Given the description of an element on the screen output the (x, y) to click on. 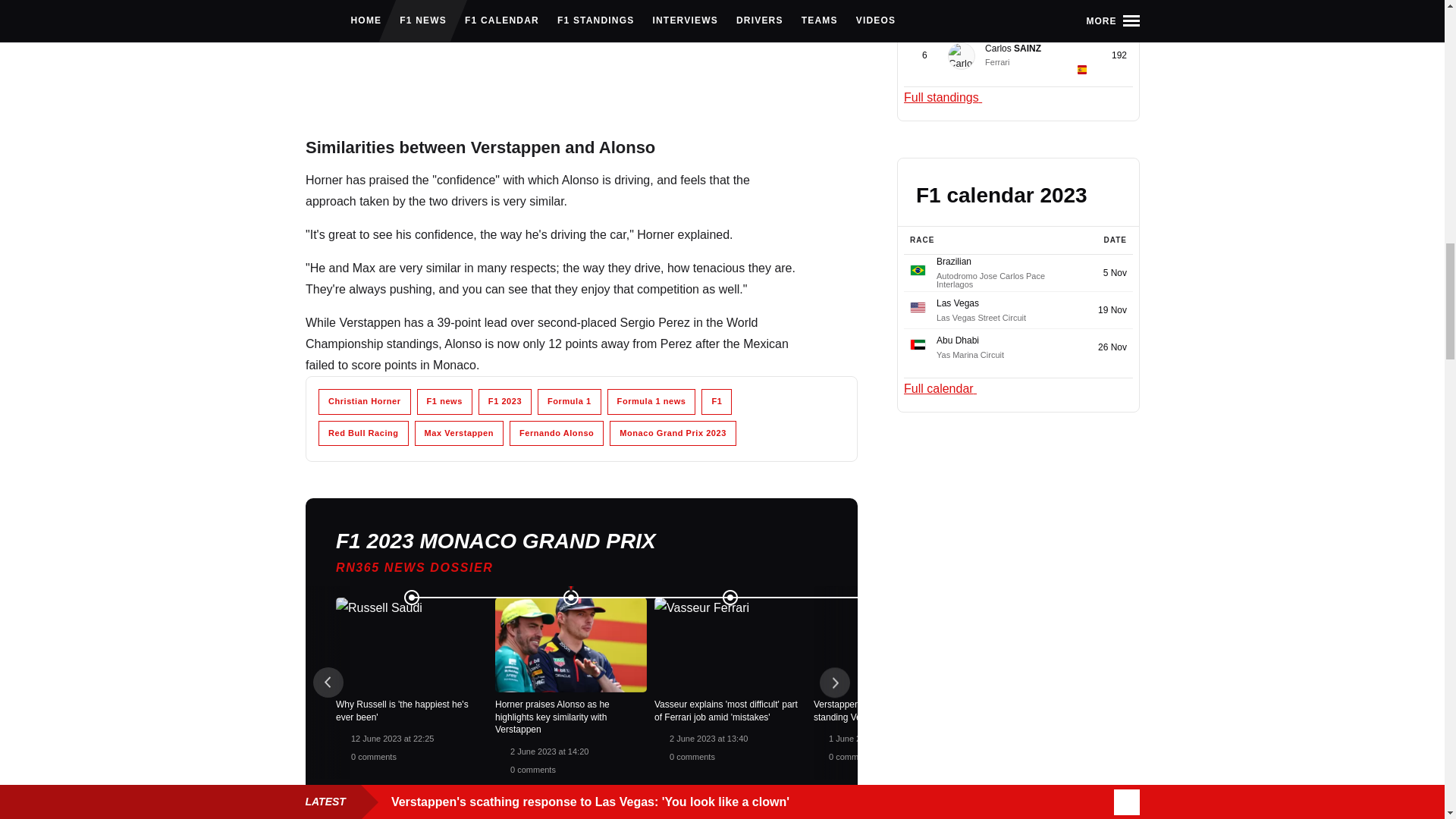
Thursday 1 June 2023 at 00:00 (1345, 737)
Friday 2 June 2023 at 14:20 (548, 750)
Thursday 1 June 2023 at 18:40 (866, 737)
Friday 2 June 2023 at 13:40 (707, 737)
Monday 12 June 2023 at 22:25 (391, 737)
Thursday 1 June 2023 at 17:00 (1185, 737)
Thursday 1 June 2023 at 17:50 (1026, 737)
